Given the description of an element on the screen output the (x, y) to click on. 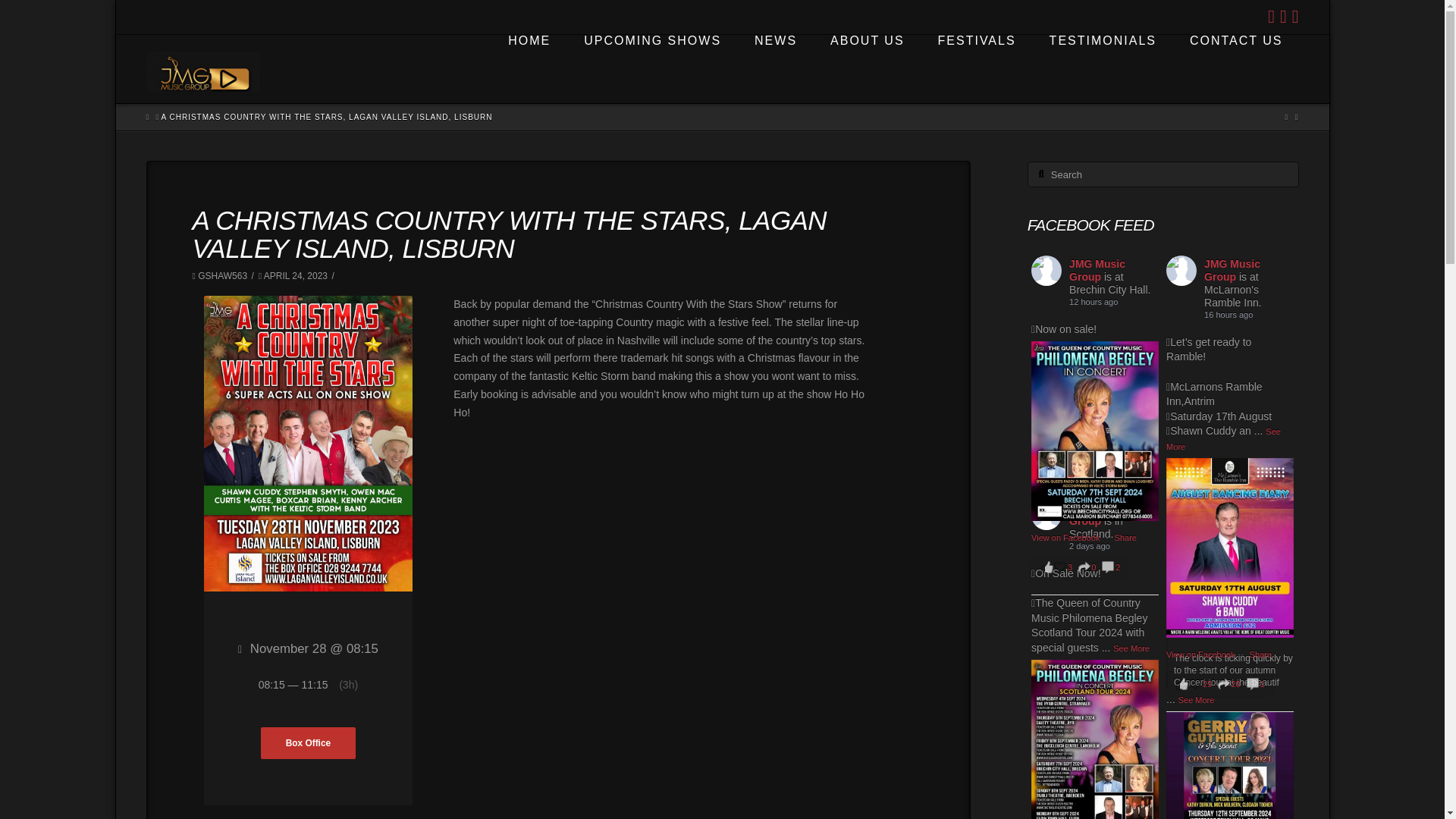
TESTIMONIALS (1102, 69)
Share (1126, 537)
JMG Music Group (1096, 269)
Box Office (307, 743)
UPCOMING SHOWS (651, 69)
HOME (528, 69)
View on Facebook (1066, 537)
ABOUT US (866, 69)
You Are Here (327, 117)
